Given the description of an element on the screen output the (x, y) to click on. 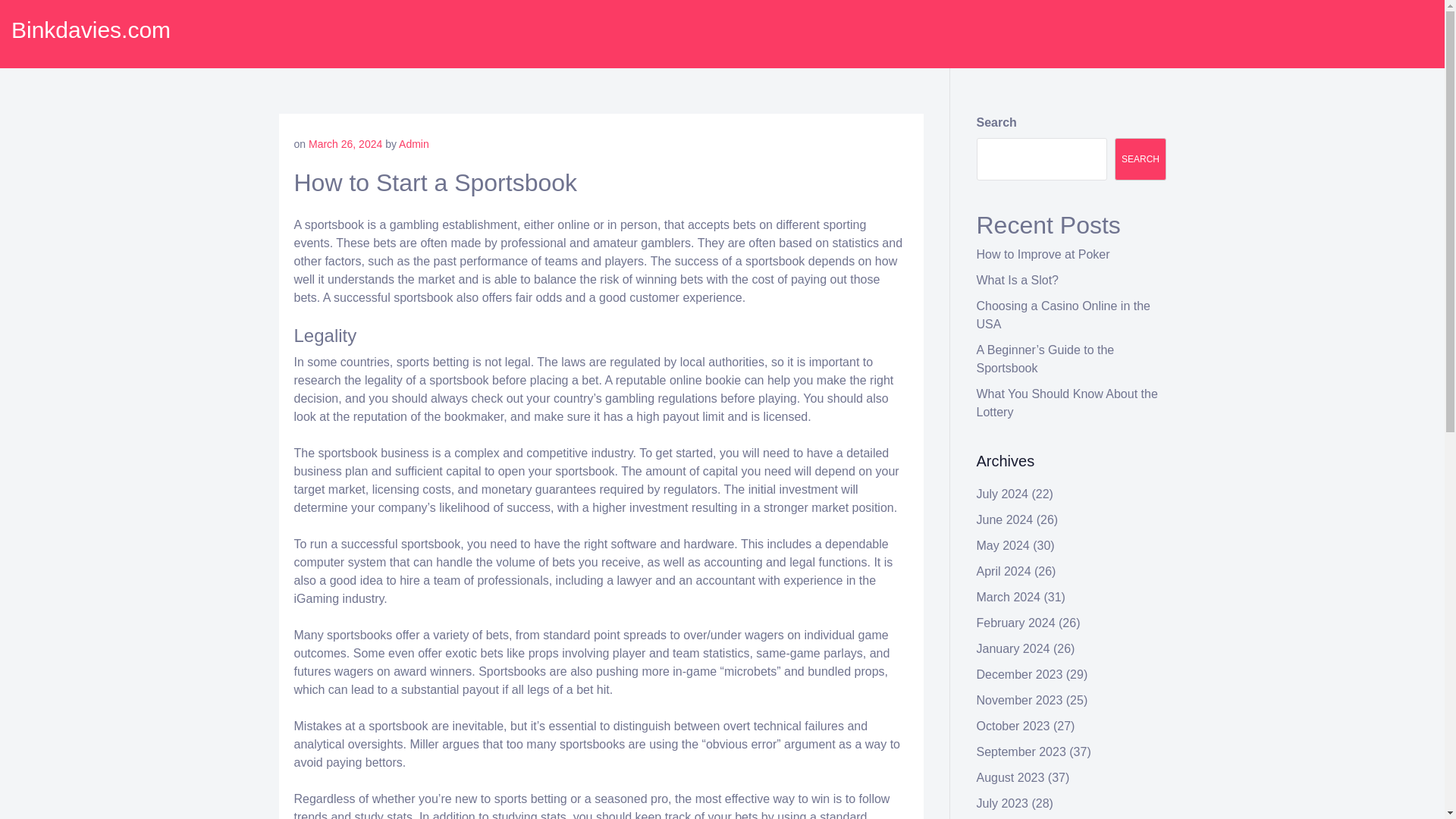
What Is a Slot? (1017, 279)
November 2023 (1019, 699)
July 2024 (1002, 493)
July 2023 (1002, 802)
February 2024 (1015, 622)
April 2024 (1003, 571)
Binkdavies.com (90, 29)
March 2024 (1008, 596)
SEARCH (1140, 159)
June 2024 (1004, 519)
